Given the description of an element on the screen output the (x, y) to click on. 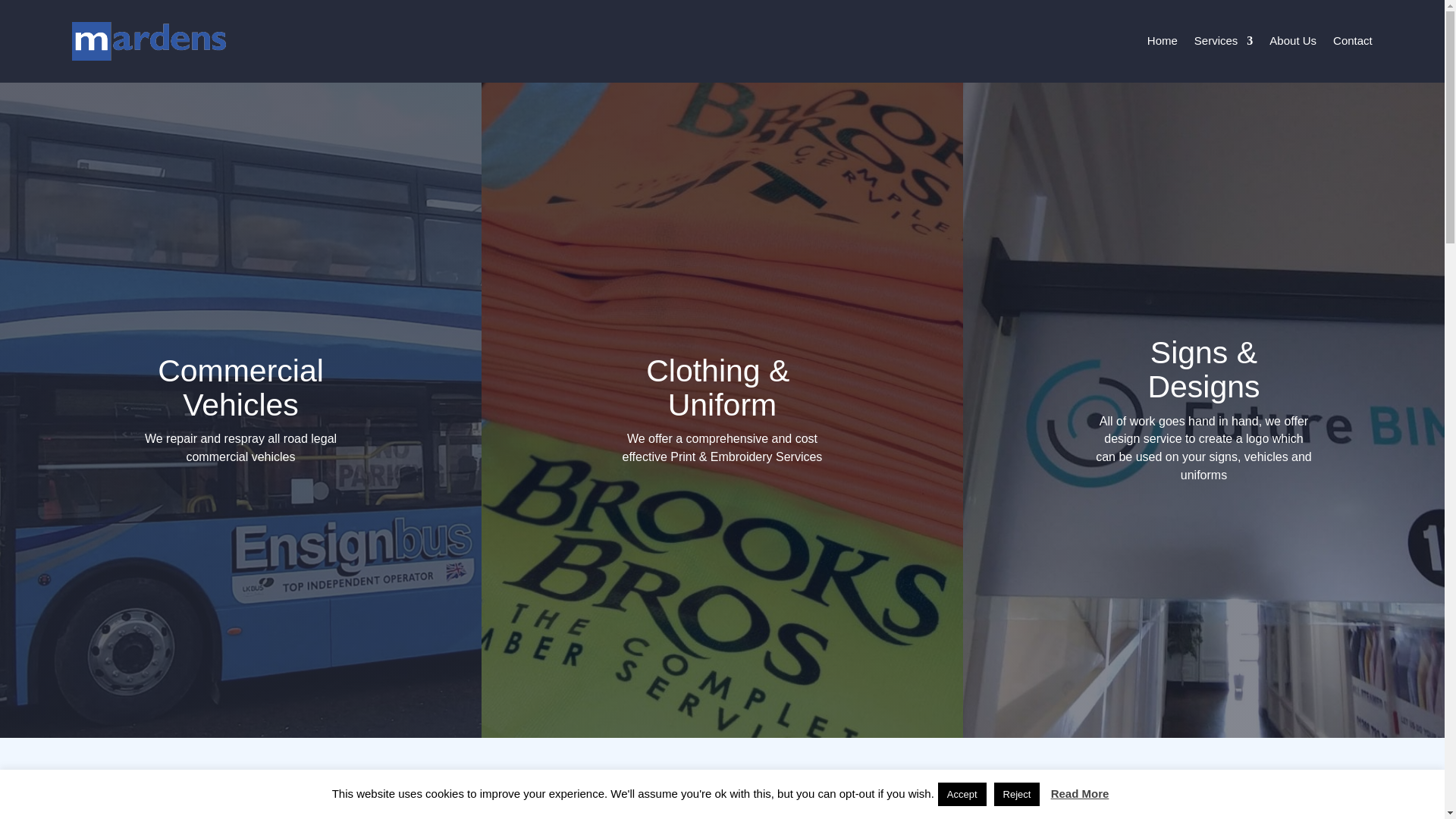
Accept (962, 793)
Home (1162, 40)
About Us (1292, 40)
Read More (1080, 793)
Contact (1353, 40)
Services (1223, 40)
Jim Mckinnon (945, 796)
Reject (1017, 793)
